Given the description of an element on the screen output the (x, y) to click on. 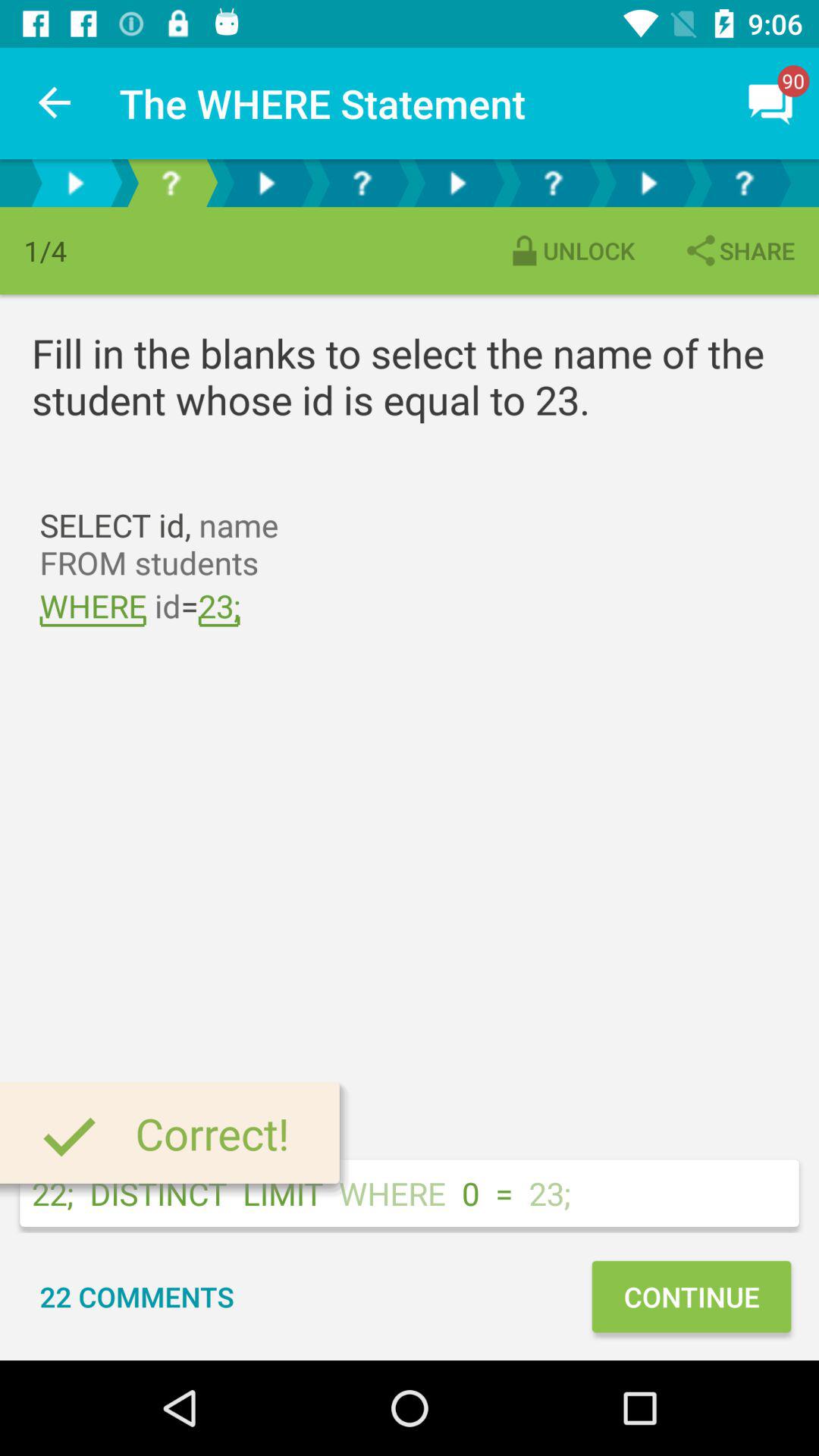
flip until continue item (691, 1296)
